Given the description of an element on the screen output the (x, y) to click on. 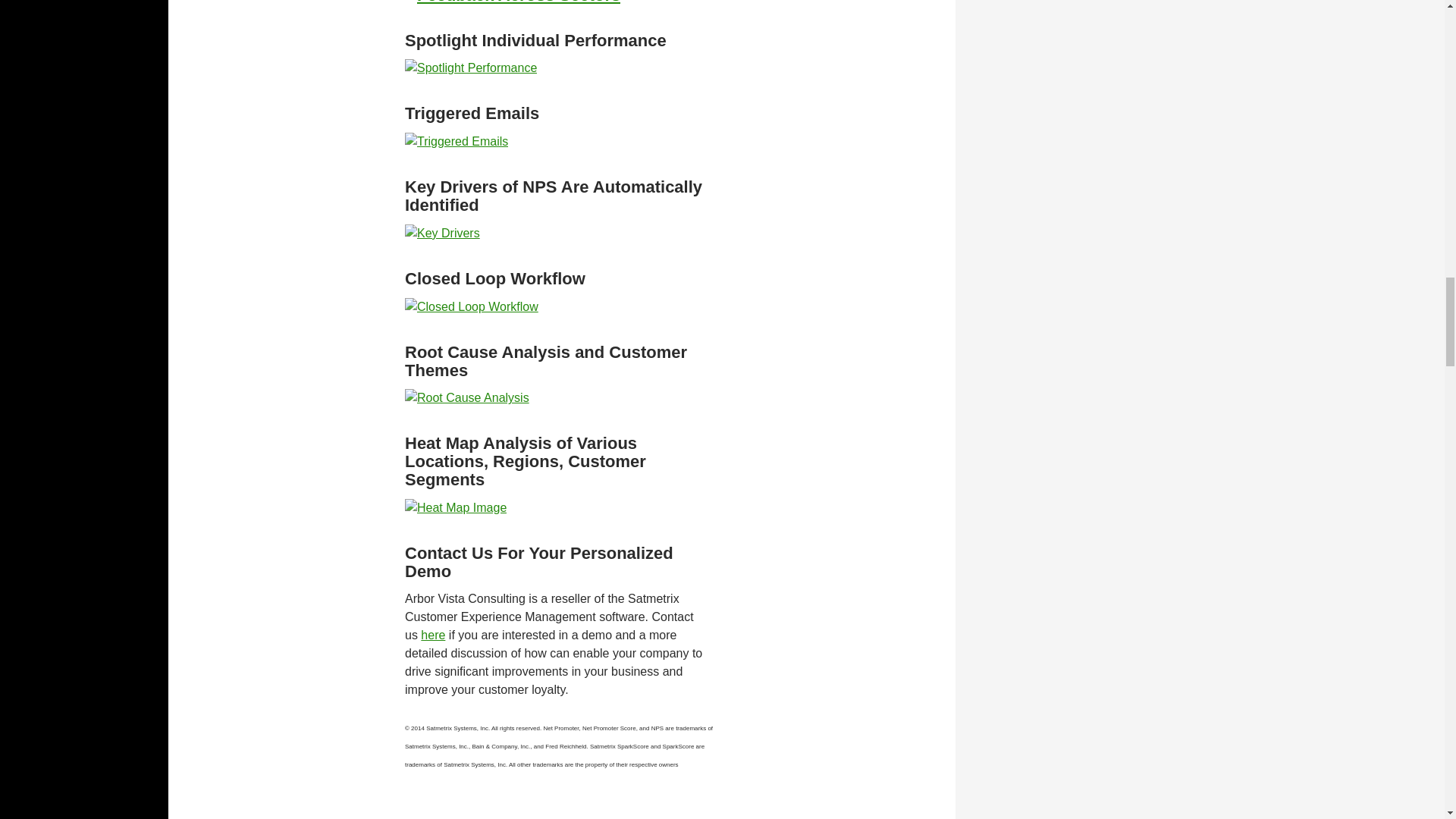
here (432, 634)
